Given the description of an element on the screen output the (x, y) to click on. 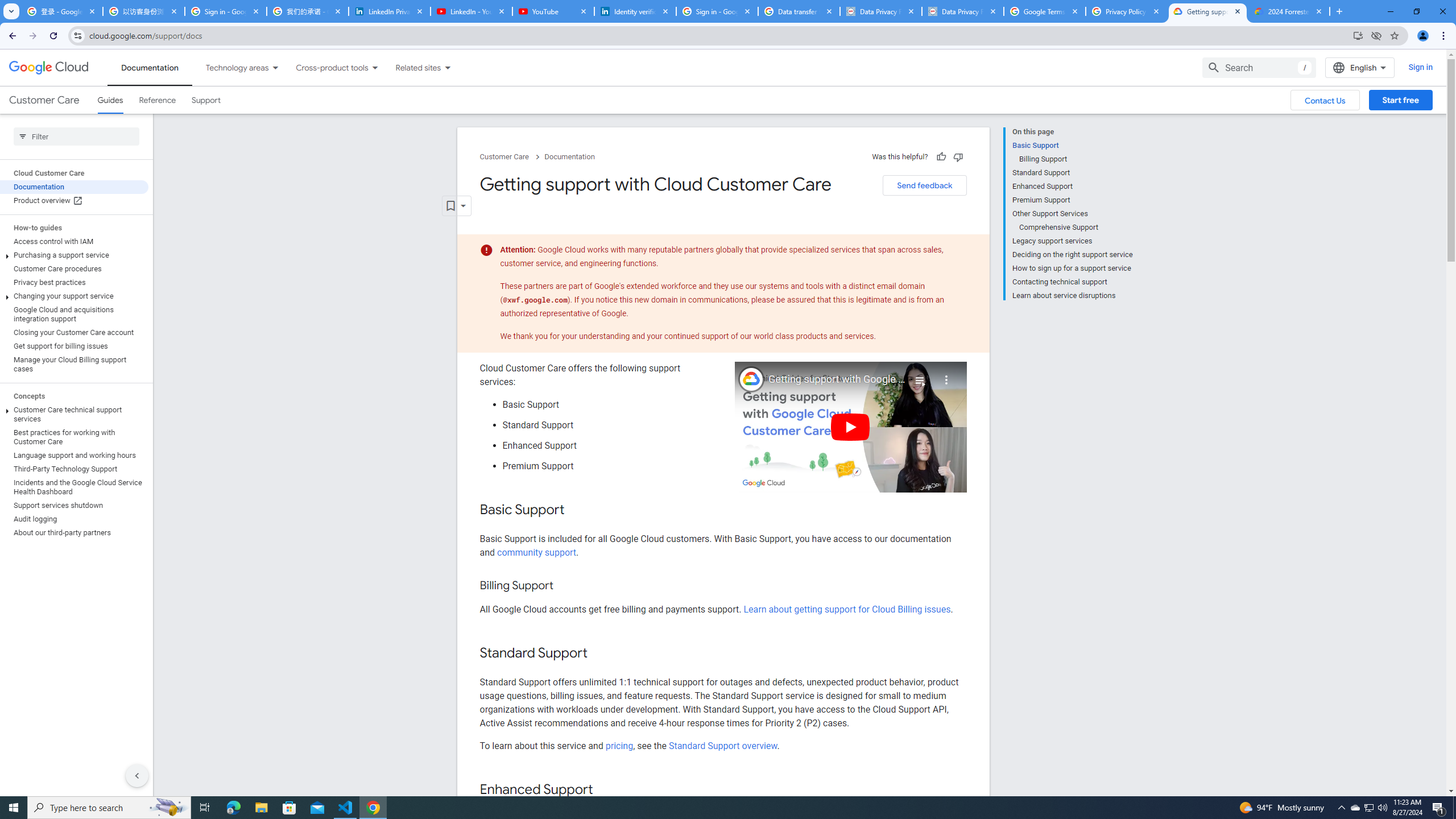
Other Support Services (1071, 213)
English (1359, 67)
Copy link to this section: Billing Support (564, 585)
Getting support with Google Cloud Customer Care (837, 379)
Deciding on the right support service (1071, 254)
Install Google Cloud (1358, 35)
Privacy best practices (74, 282)
Helpful (940, 156)
Copy link to this section: Standard Support (599, 653)
About our third-party partners (74, 532)
Sign in - Google Accounts (716, 11)
